Given the description of an element on the screen output the (x, y) to click on. 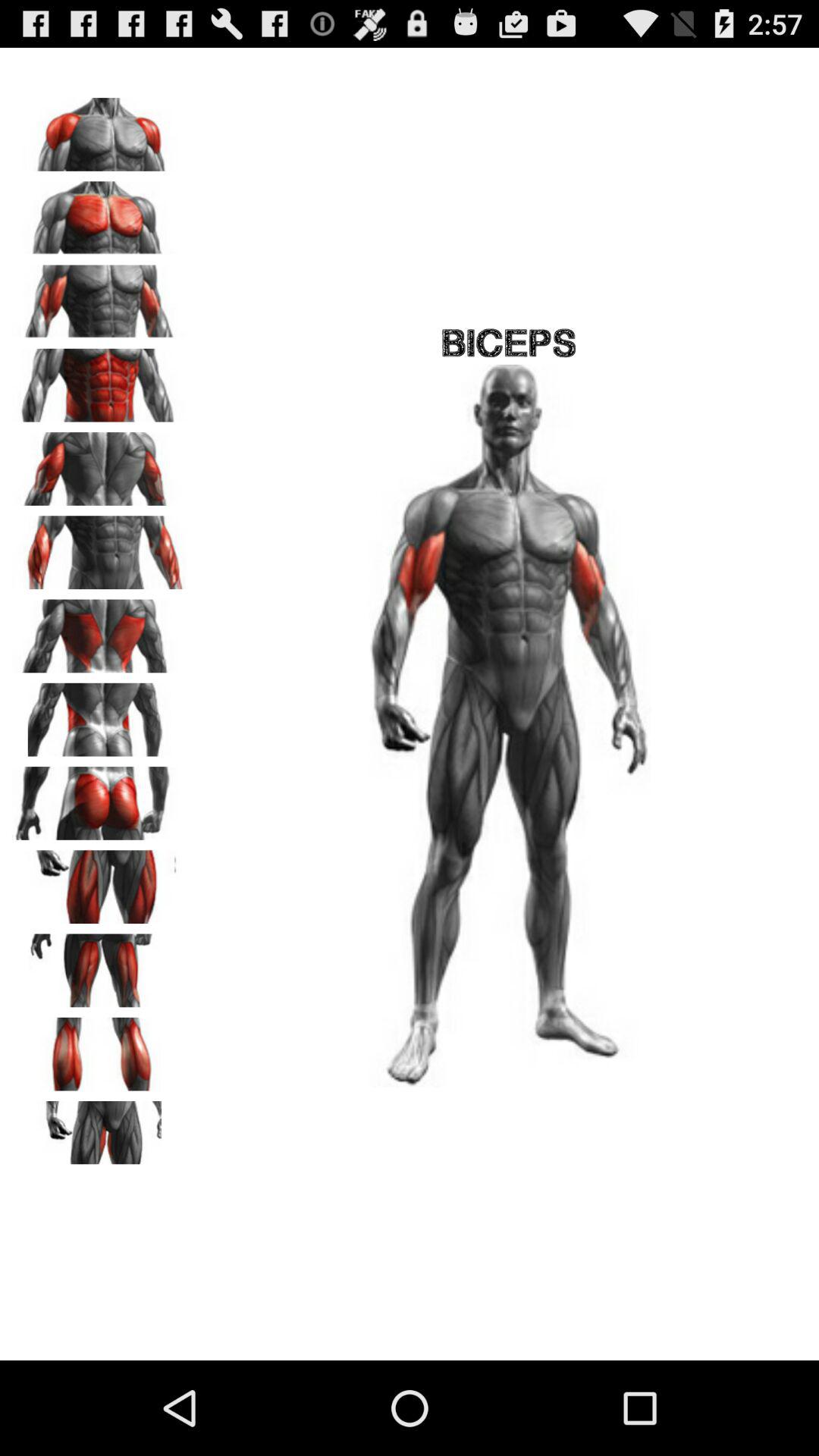
select picture (99, 212)
